Given the description of an element on the screen output the (x, y) to click on. 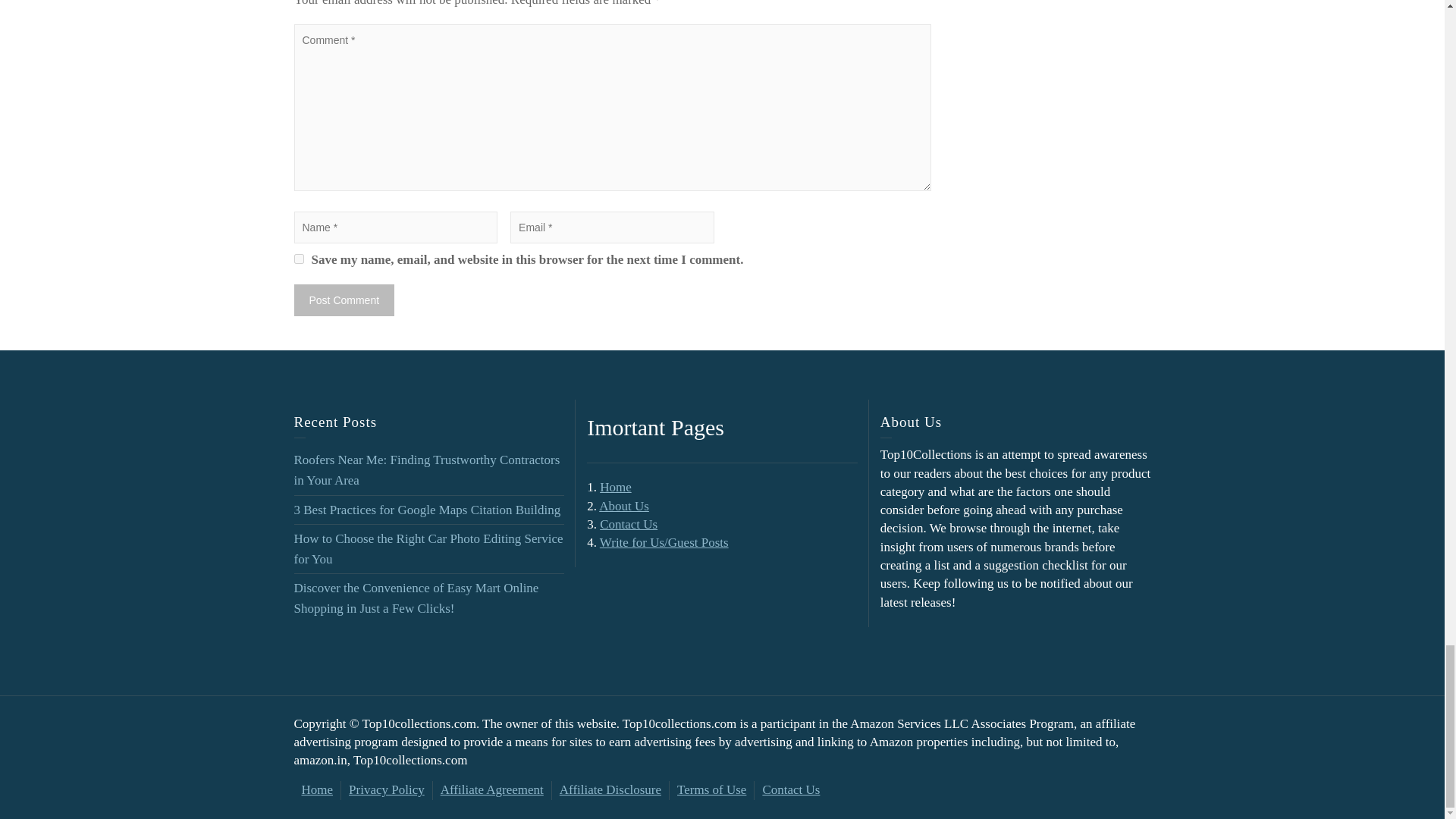
3 Best Practices for Google Maps Citation Building (427, 509)
Post Comment (344, 300)
About Us (623, 505)
Contact Us (628, 523)
yes (299, 258)
Post Comment (344, 300)
Home (615, 486)
How to Choose the Right Car Photo Editing Service for You (428, 548)
